Given the description of an element on the screen output the (x, y) to click on. 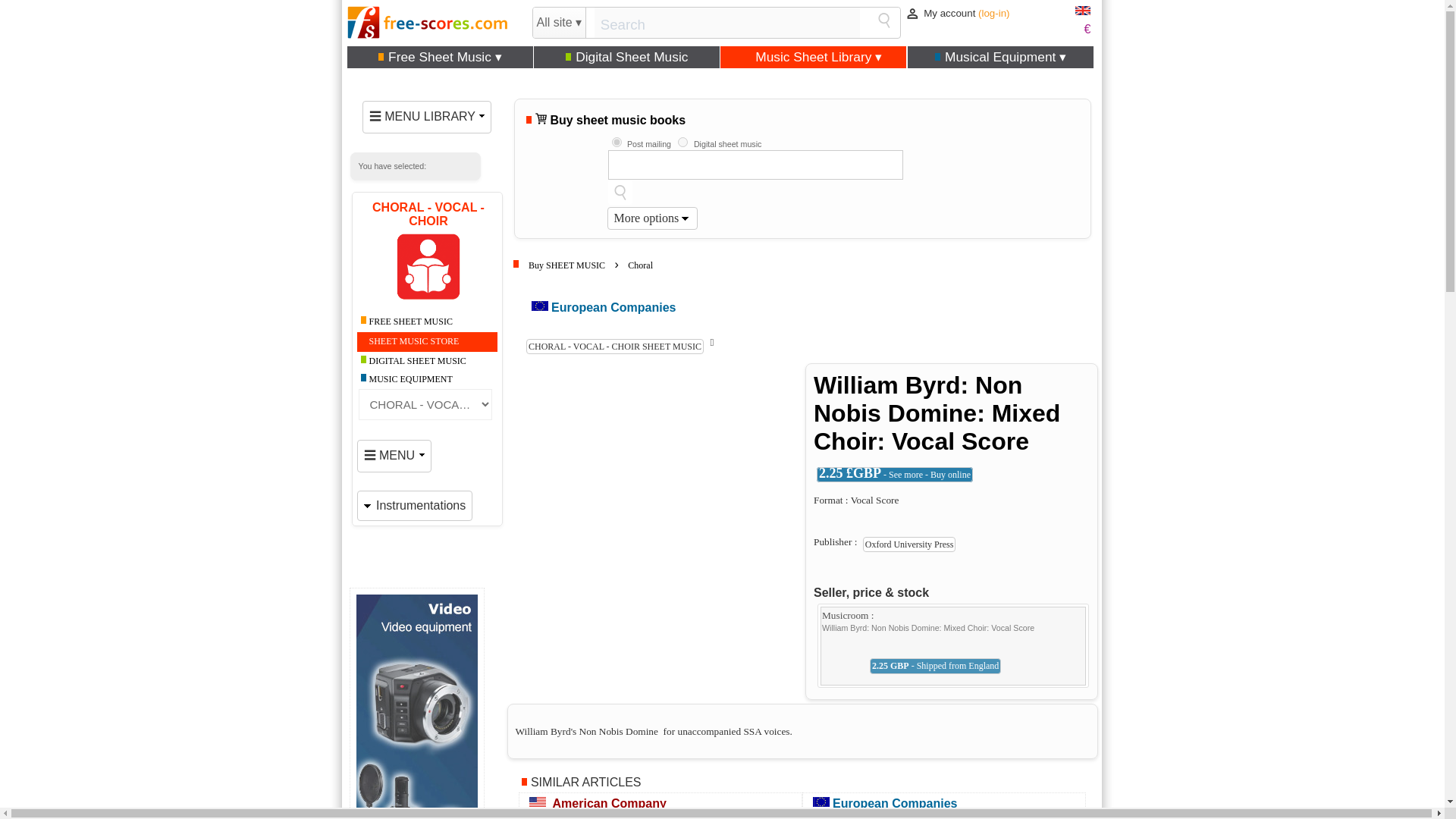
Search (619, 191)
2 (682, 142)
Search (884, 19)
1 (616, 142)
